Given the description of an element on the screen output the (x, y) to click on. 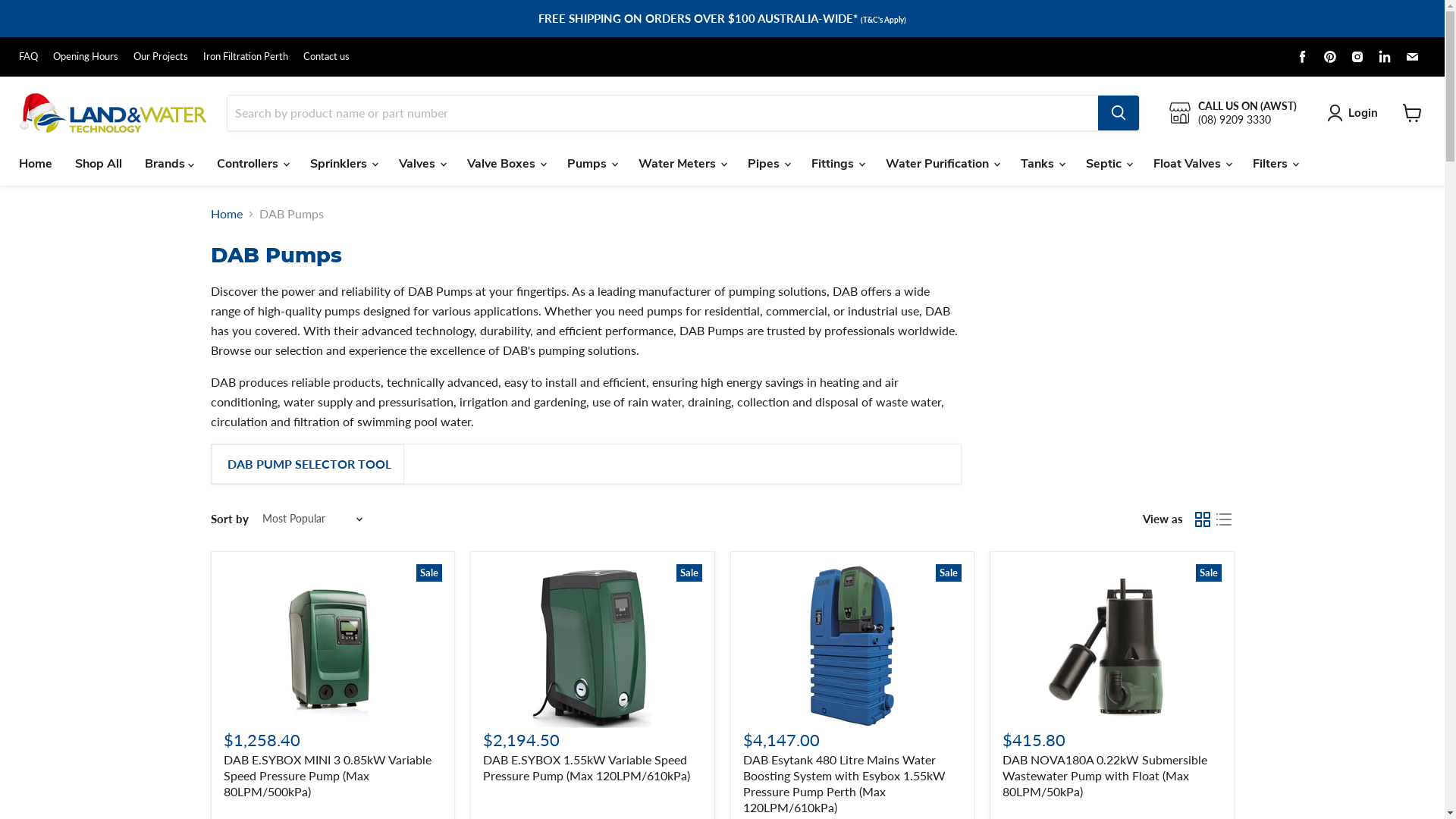
Home Element type: text (226, 213)
DAB PUMP SELECTOR TOOL Element type: text (309, 463)
Sale Element type: text (332, 646)
Find us on Facebook Element type: text (1302, 55)
Find us on LinkedIn Element type: text (1384, 55)
Our Projects Element type: text (160, 56)
Iron Filtration Perth Element type: text (245, 56)
View cart Element type: text (1412, 112)
Contact us Element type: text (326, 56)
Sale Element type: text (852, 646)
Login Element type: text (1362, 112)
FAQ Element type: text (27, 56)
Sale Element type: text (592, 646)
Find us on Pinterest Element type: text (1329, 55)
Sale Element type: text (1111, 646)
Home Element type: text (35, 163)
Opening Hours Element type: text (85, 56)
Find us on Instagram Element type: text (1357, 55)
Shop All Element type: text (98, 163)
Find us on Email Element type: text (1411, 55)
